Given the description of an element on the screen output the (x, y) to click on. 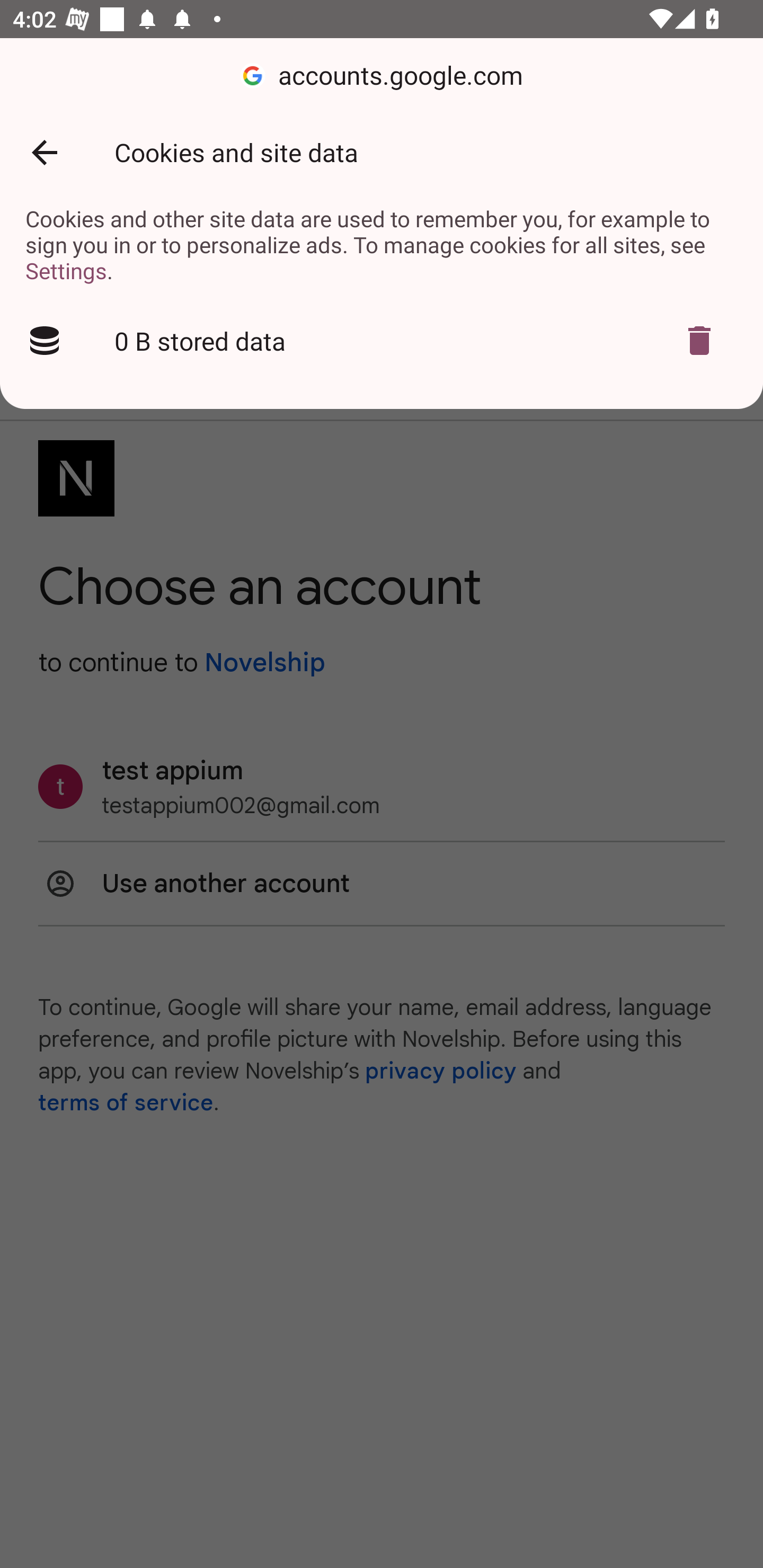
accounts.google.com (381, 75)
Back (44, 152)
0 B stored data Delete cookies? (381, 340)
